Given the description of an element on the screen output the (x, y) to click on. 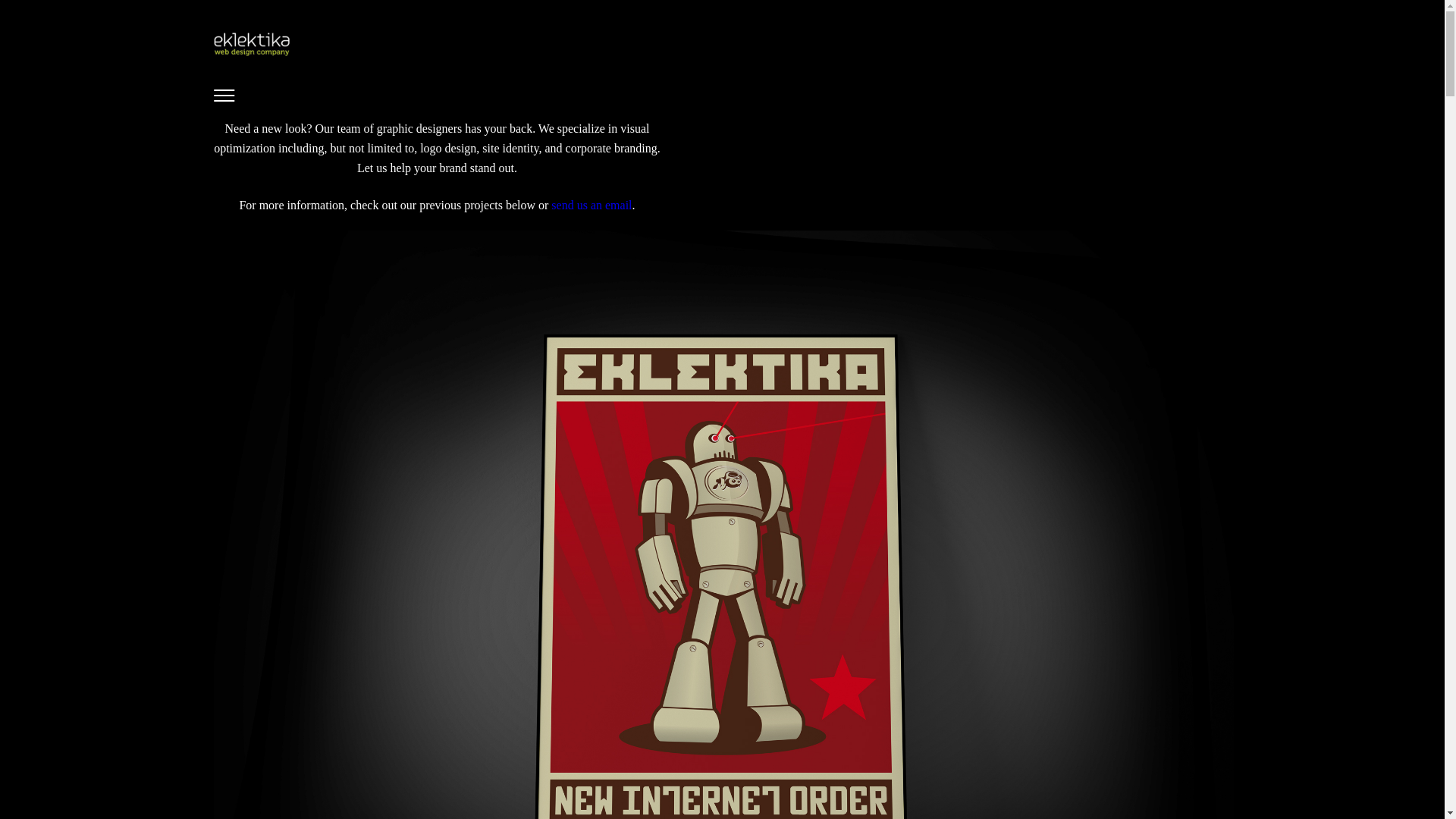
send us an email (591, 205)
